Given the description of an element on the screen output the (x, y) to click on. 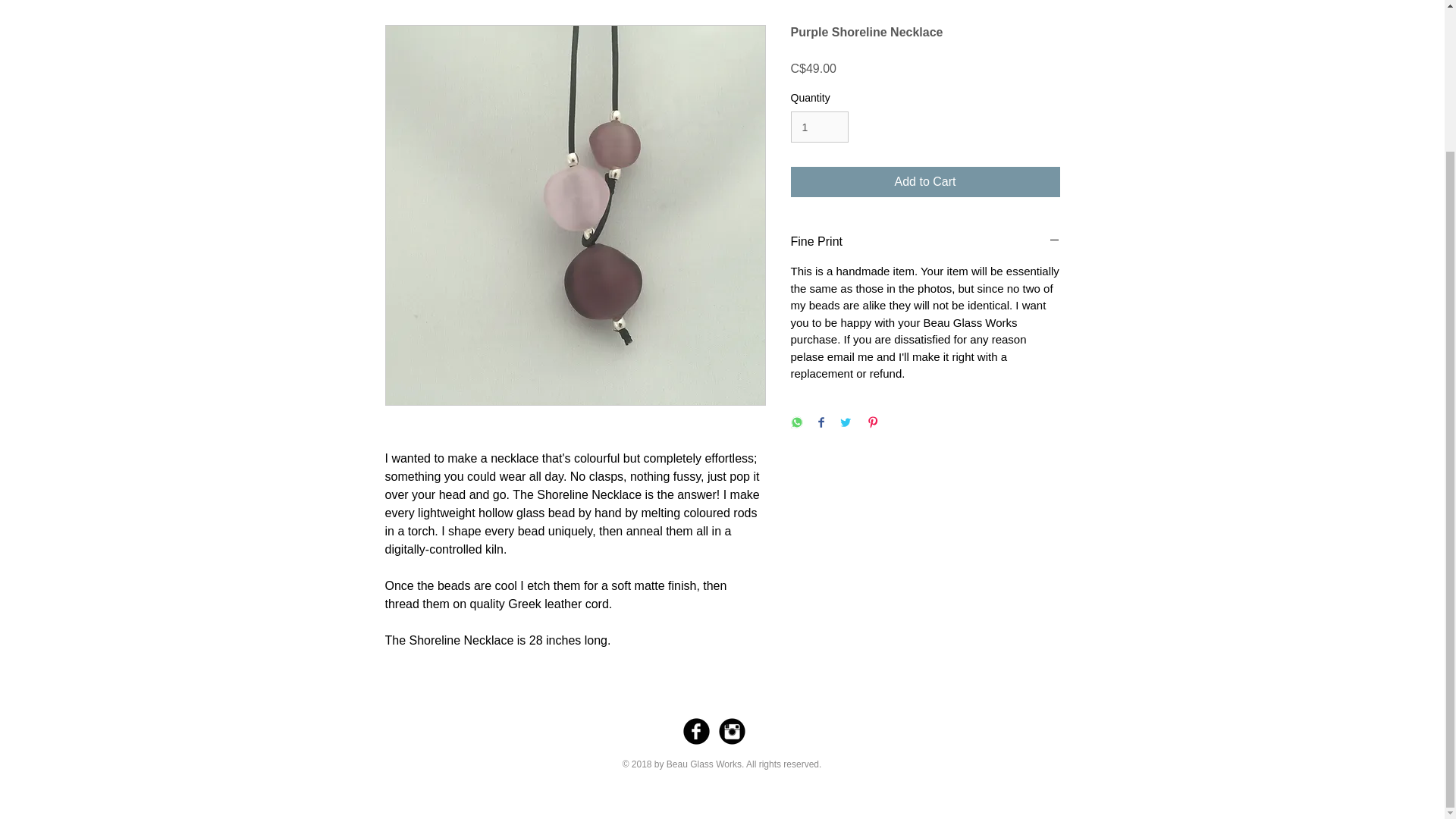
Fine Print (924, 241)
Add to Cart (924, 182)
1 (818, 126)
